Given the description of an element on the screen output the (x, y) to click on. 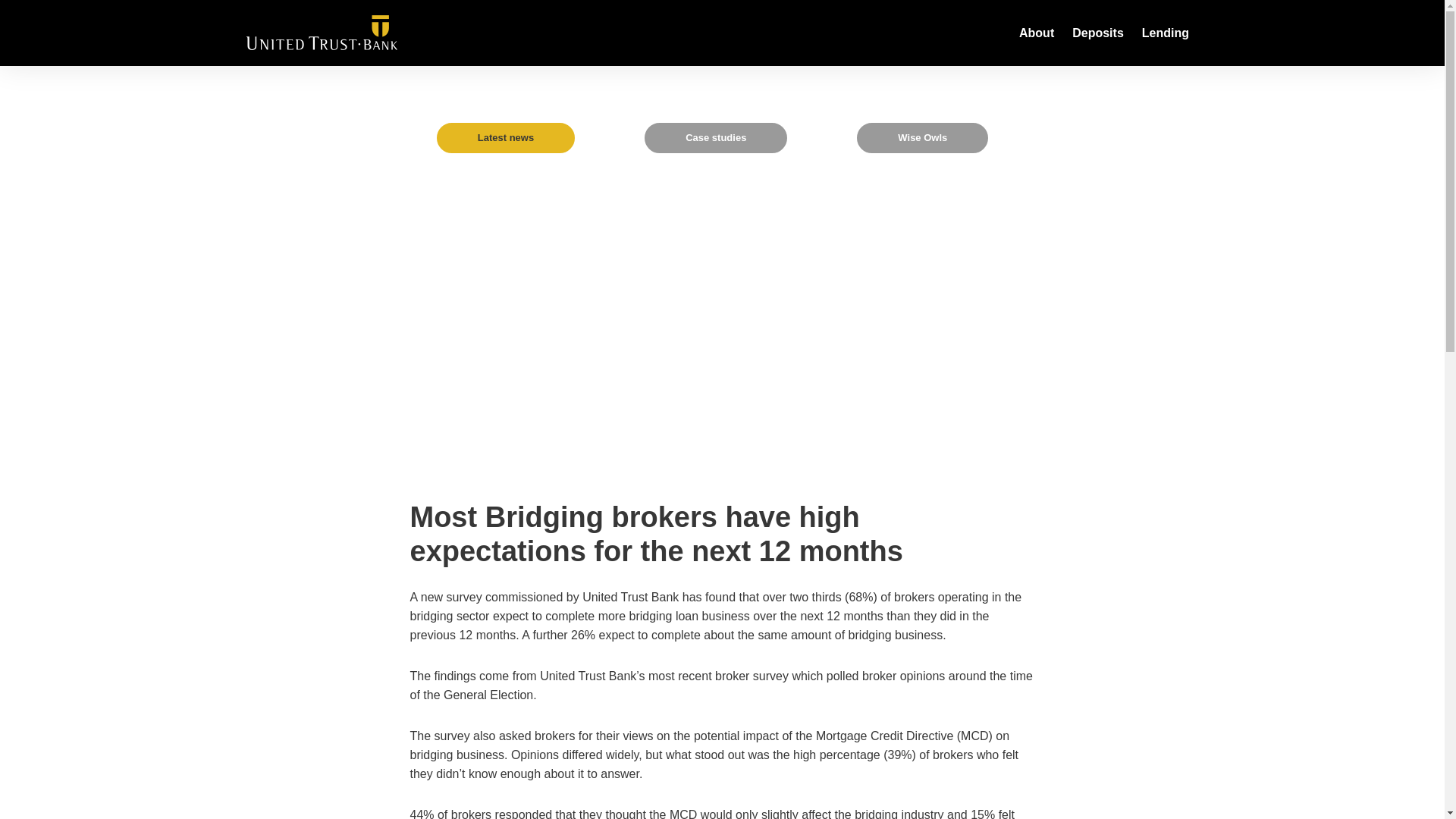
Deposits (1097, 33)
Case studies (716, 137)
United Bank Trust logo (321, 32)
Latest news (505, 137)
Lending (1165, 33)
United Bank Trust logo (321, 32)
About (1036, 33)
Wise Owls (922, 137)
